Given the description of an element on the screen output the (x, y) to click on. 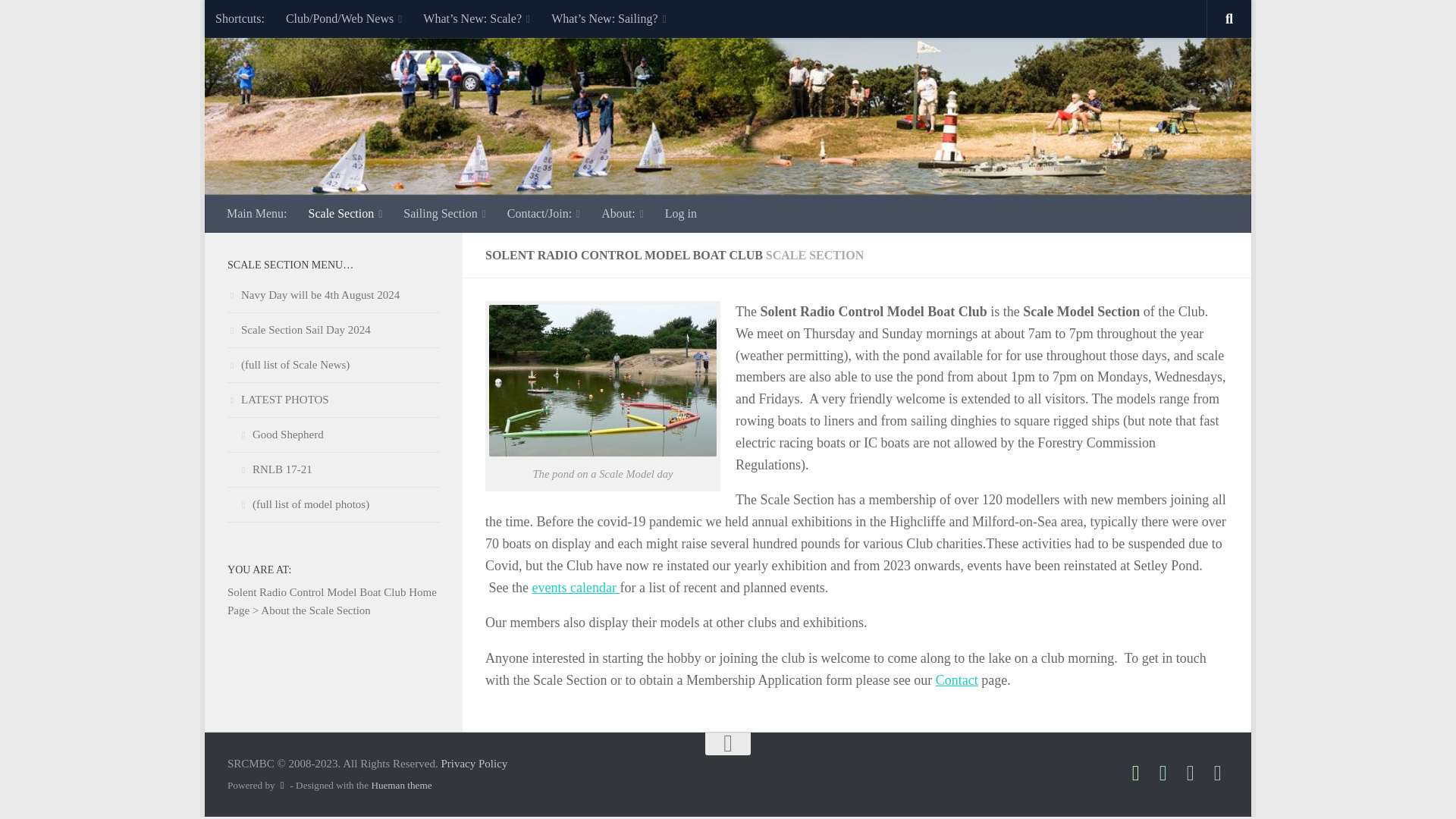
Email Sailing Secretary (1136, 772)
SRCMBC YouTube Channel (1217, 772)
Skip to content (264, 20)
Email Web Site Admin (1190, 772)
Email Scale Captain (1163, 772)
Powered by WordPress (282, 785)
Shortcuts: (240, 18)
Hueman theme (400, 785)
